Given the description of an element on the screen output the (x, y) to click on. 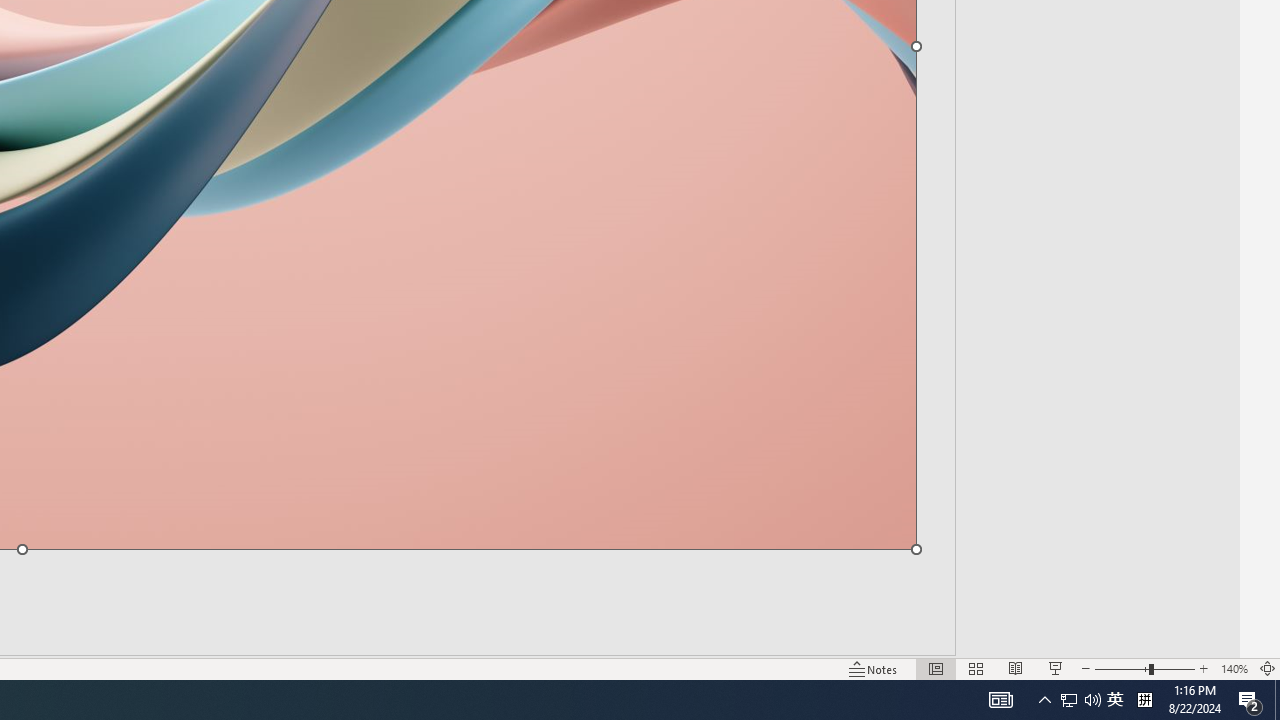
Zoom 140% (1234, 668)
